Given the description of an element on the screen output the (x, y) to click on. 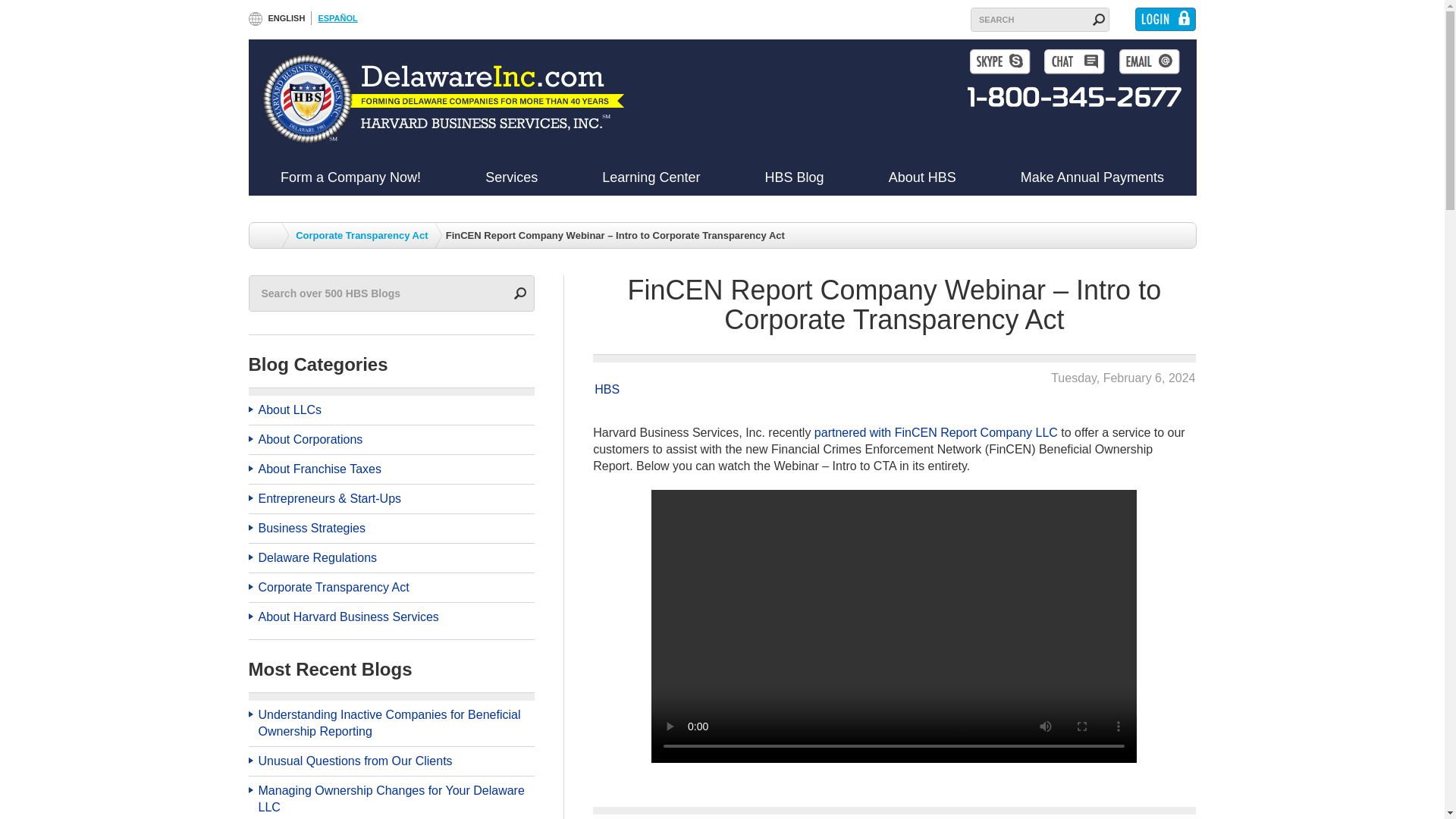
Skype (999, 61)
Email (1149, 61)
Login (1165, 19)
Login (1165, 19)
Harvard Business Services, Inc (444, 98)
Services (510, 177)
Services (510, 177)
Learning Center (650, 177)
Form a Company Now! (350, 177)
Skype (999, 61)
